Given the description of an element on the screen output the (x, y) to click on. 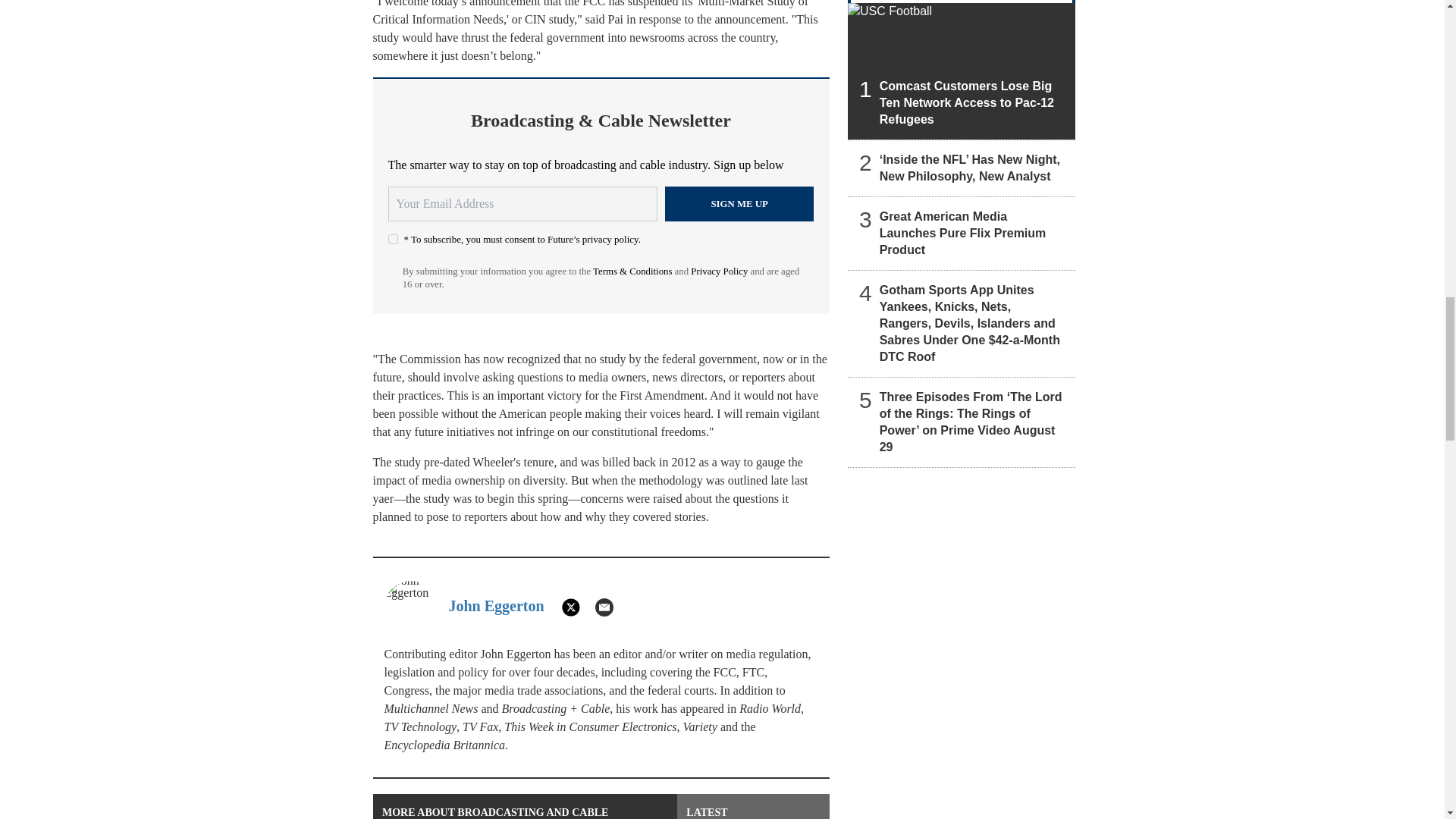
on (392, 239)
Sign me up (739, 203)
Sign me up (739, 203)
